Given the description of an element on the screen output the (x, y) to click on. 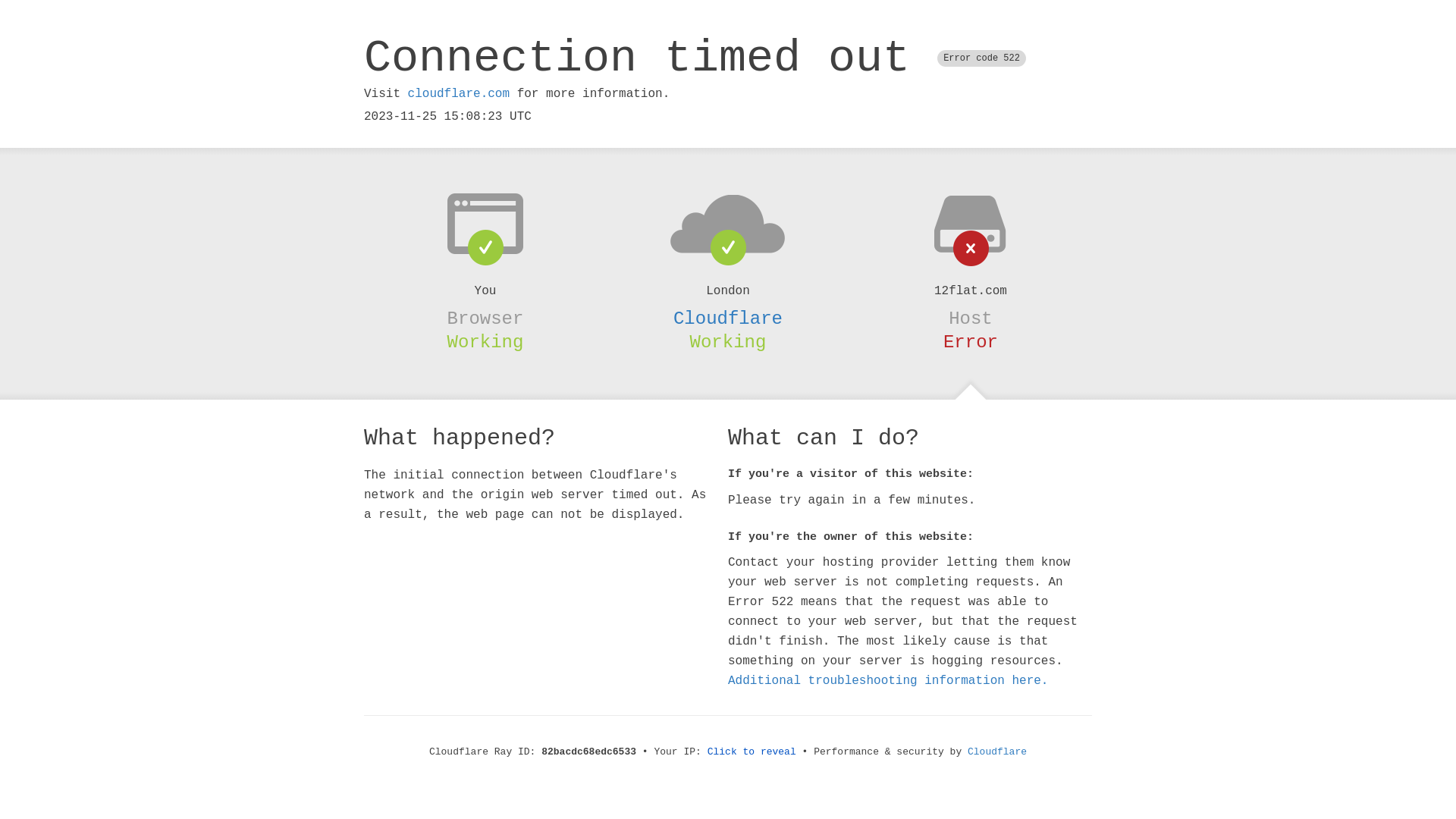
Additional troubleshooting information here. Element type: text (888, 680)
Cloudflare Element type: text (996, 751)
Cloudflare Element type: text (727, 318)
Click to reveal Element type: text (751, 751)
cloudflare.com Element type: text (458, 93)
